Given the description of an element on the screen output the (x, y) to click on. 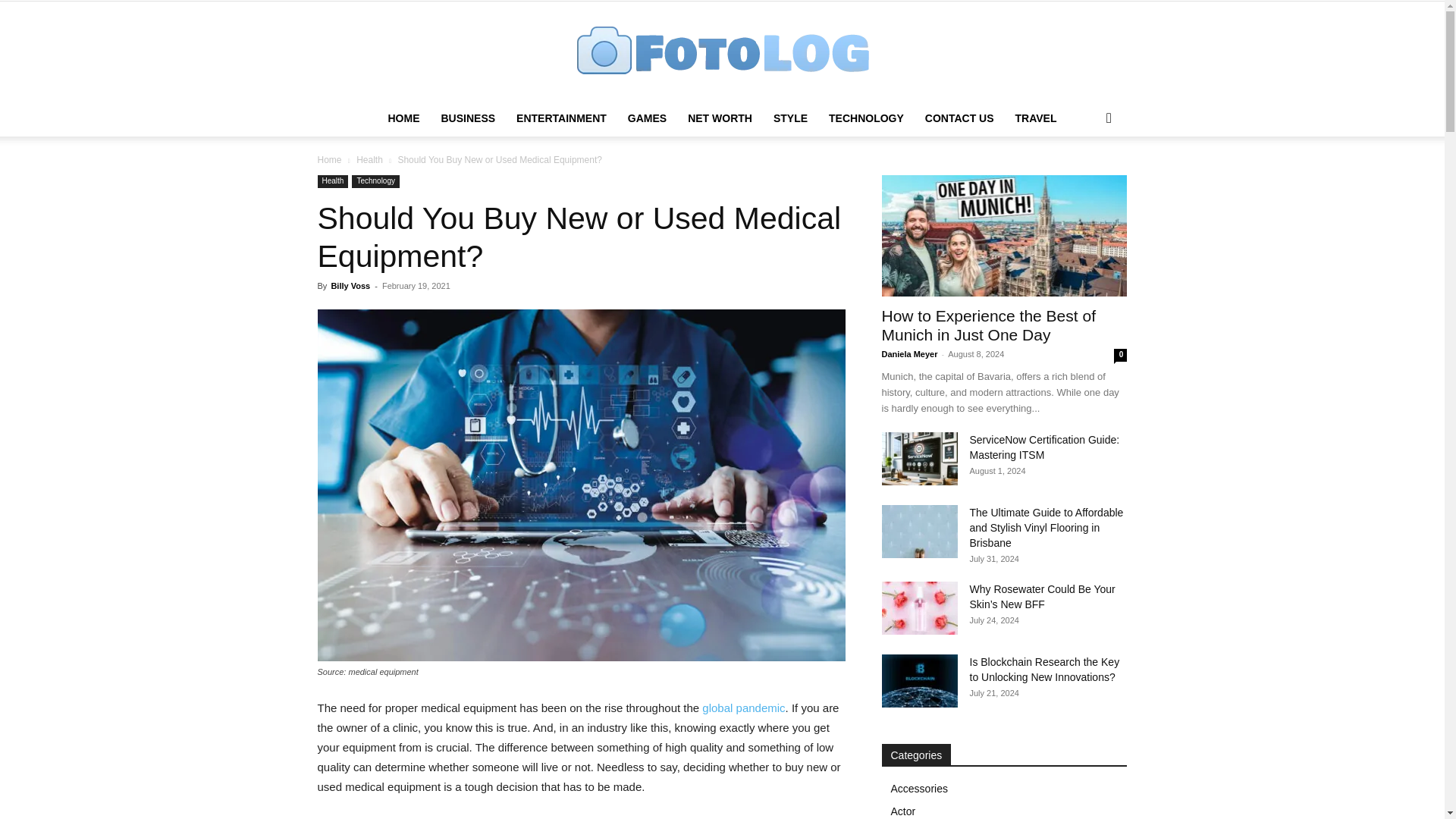
HOME (403, 117)
NET WORTH (719, 117)
Health (332, 181)
global pandemic (742, 707)
Health (369, 159)
TECHNOLOGY (866, 117)
BUSINESS (467, 117)
Search (1085, 178)
GAMES (647, 117)
